Given the description of an element on the screen output the (x, y) to click on. 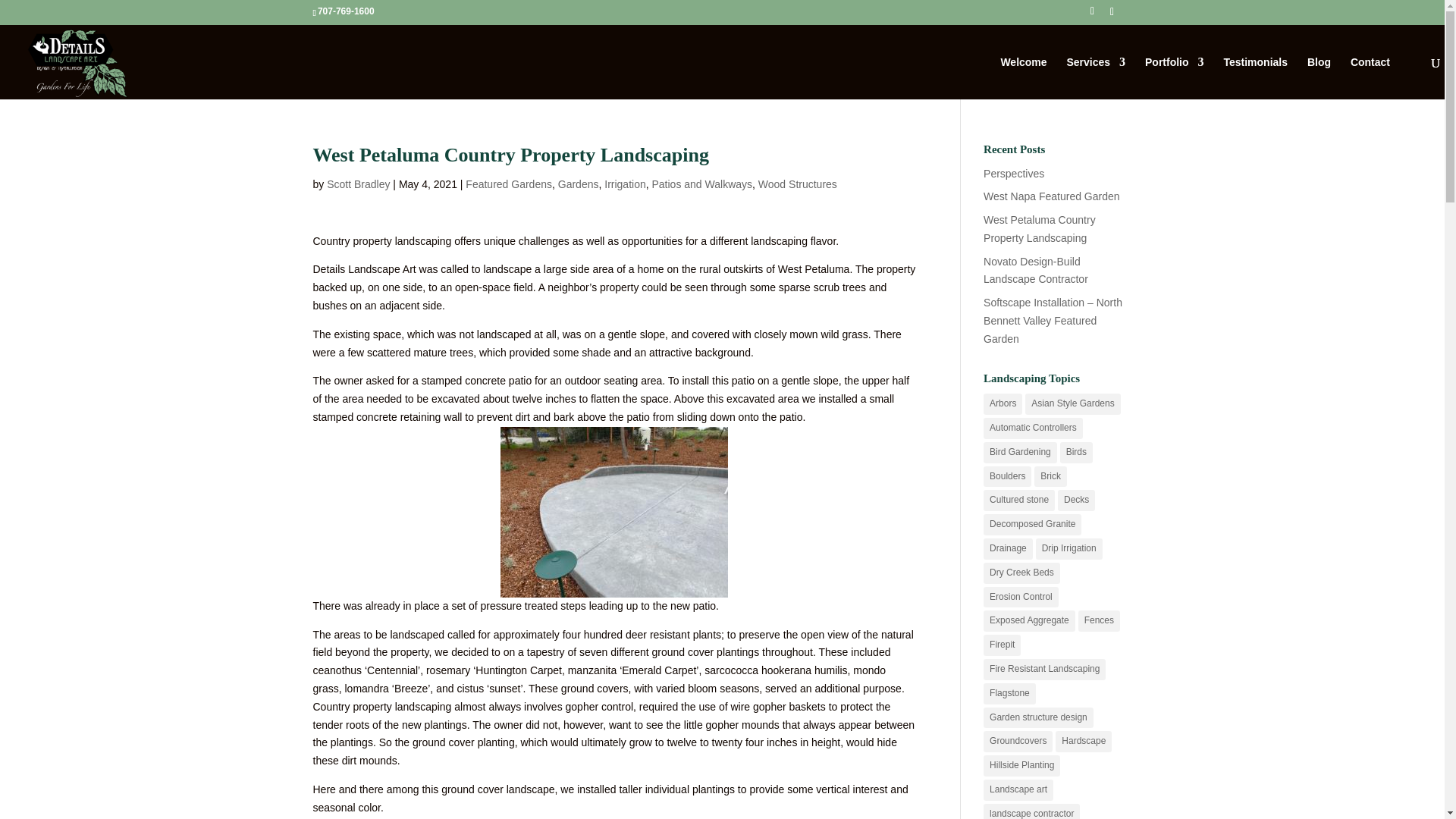
Services (1095, 77)
707-769-1600 (348, 10)
Portfolio (1174, 77)
Posts by Scott Bradley (358, 184)
Welcome (1023, 77)
Contact (1370, 77)
Testimonials (1255, 77)
